Given the description of an element on the screen output the (x, y) to click on. 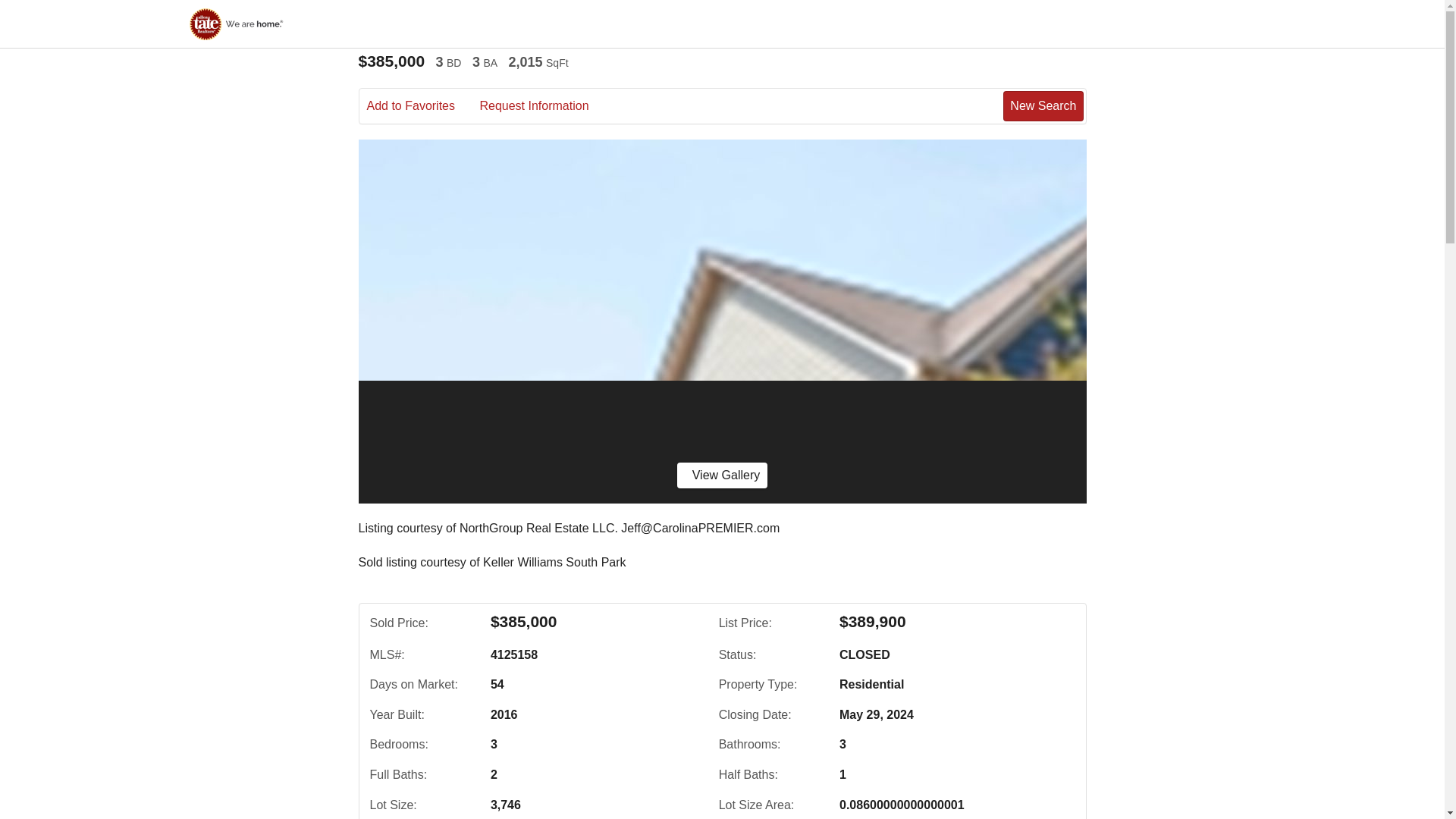
Request Information (544, 106)
View Gallery (722, 474)
Add to Favorites (421, 106)
New Search (1043, 105)
View Gallery (722, 475)
